Given the description of an element on the screen output the (x, y) to click on. 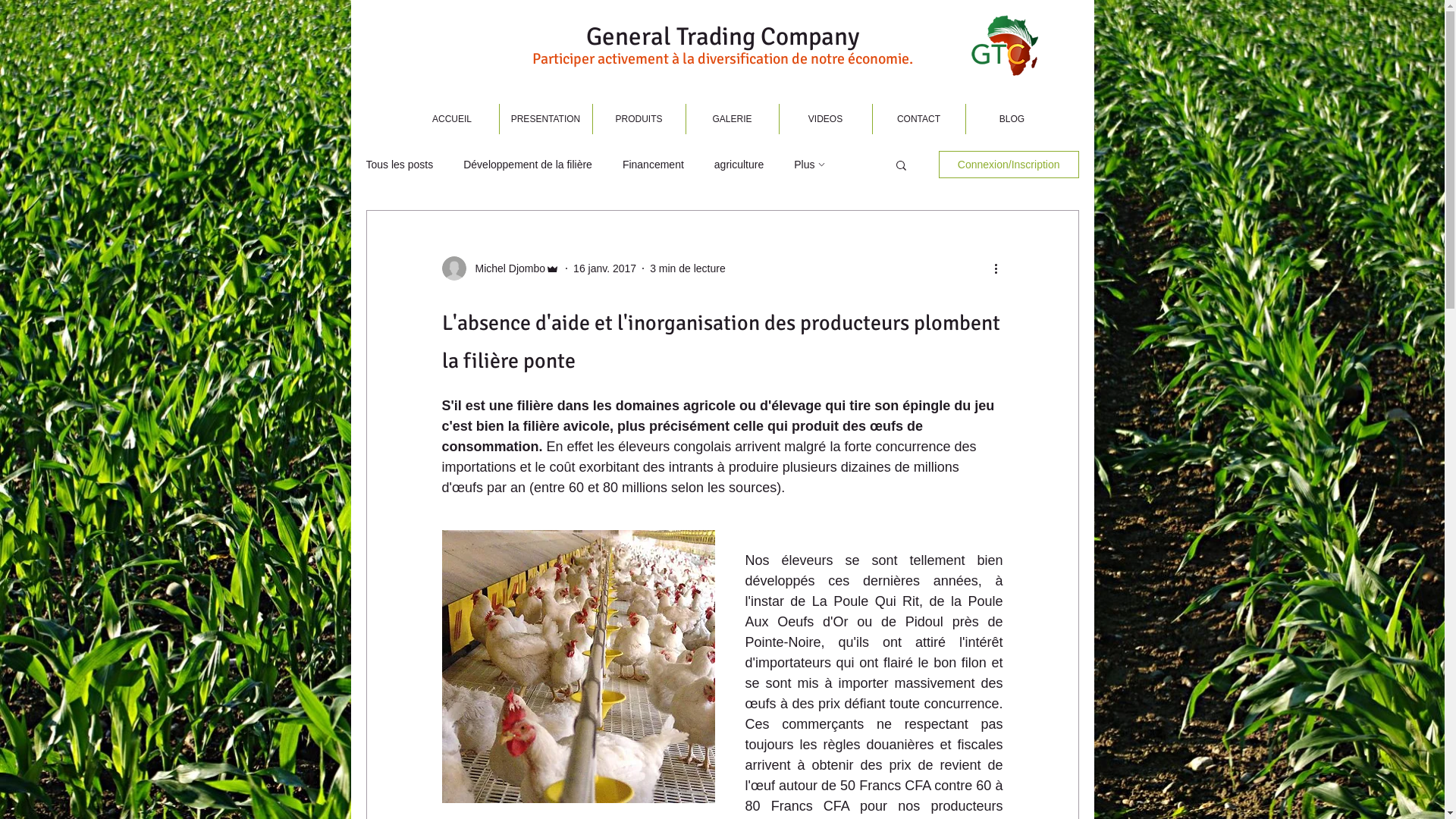
agriculture Element type: text (738, 164)
ACCUEIL Element type: text (451, 118)
PRODUITS Element type: text (639, 118)
GTC SANS SERIF.png Element type: hover (1007, 45)
BLOG Element type: text (1012, 118)
VIDEOS Element type: text (825, 118)
Tous les posts Element type: text (399, 164)
General Trading Company Element type: text (722, 36)
CONTACT Element type: text (918, 118)
GALERIE Element type: text (731, 118)
PRESENTATION Element type: text (544, 118)
Connexion/Inscription Element type: text (1008, 164)
Financement Element type: text (653, 164)
